Given the description of an element on the screen output the (x, y) to click on. 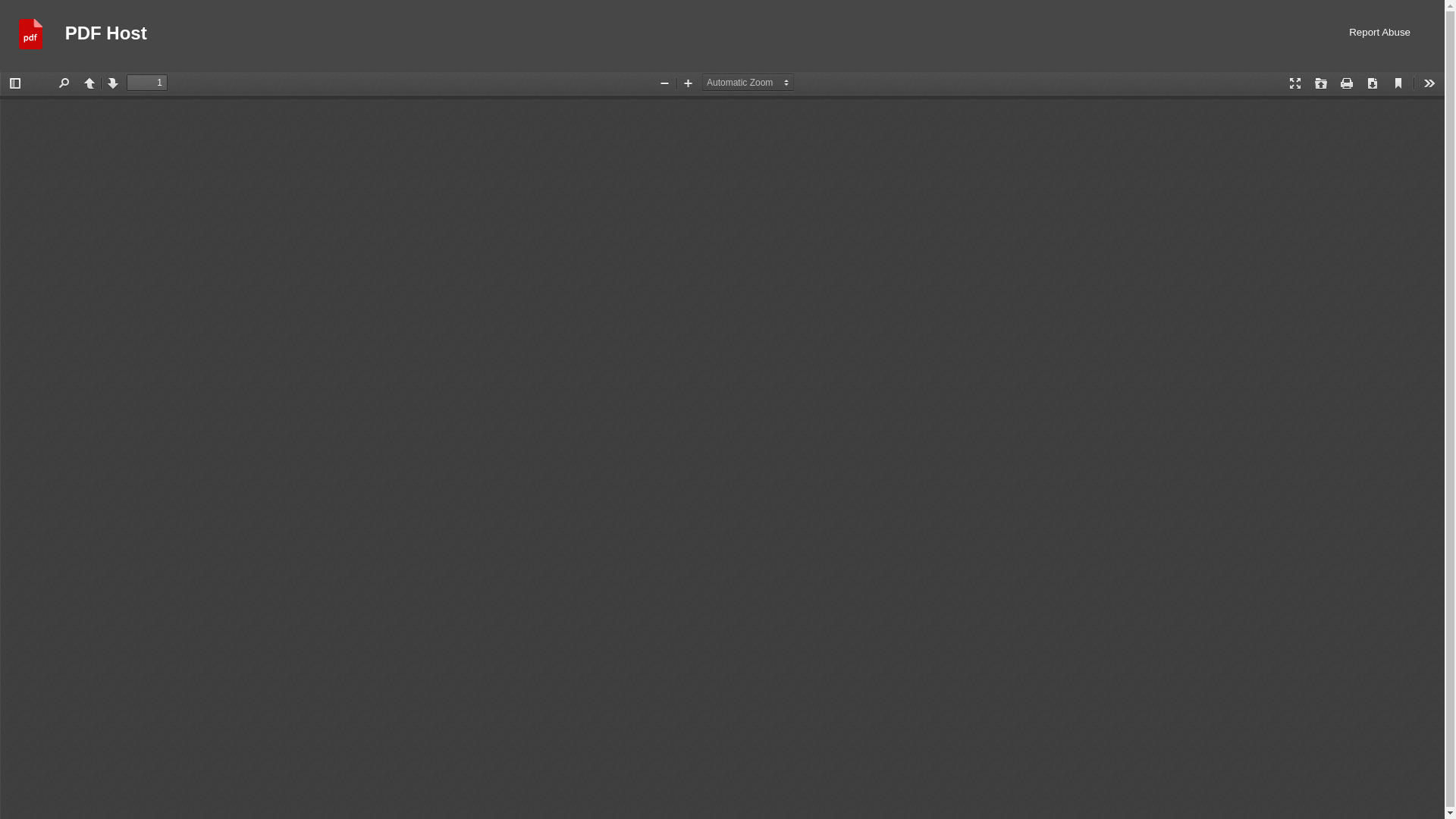
Report Abuse (1379, 35)
Toggle Sidebar (14, 82)
Find in Document (62, 82)
PDF Host (106, 35)
1 (146, 82)
